Given the description of an element on the screen output the (x, y) to click on. 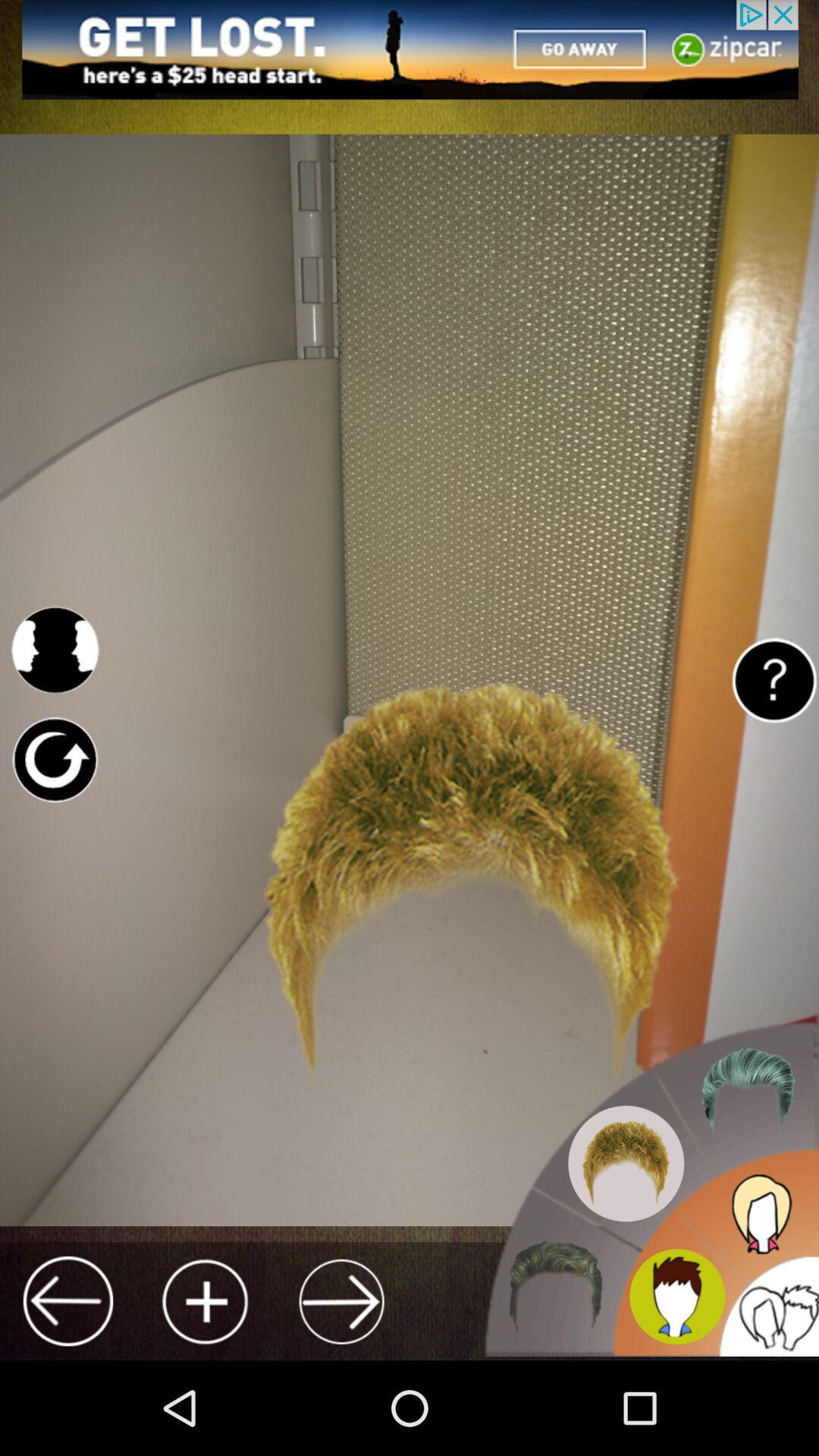
backword option (68, 1301)
